Given the description of an element on the screen output the (x, y) to click on. 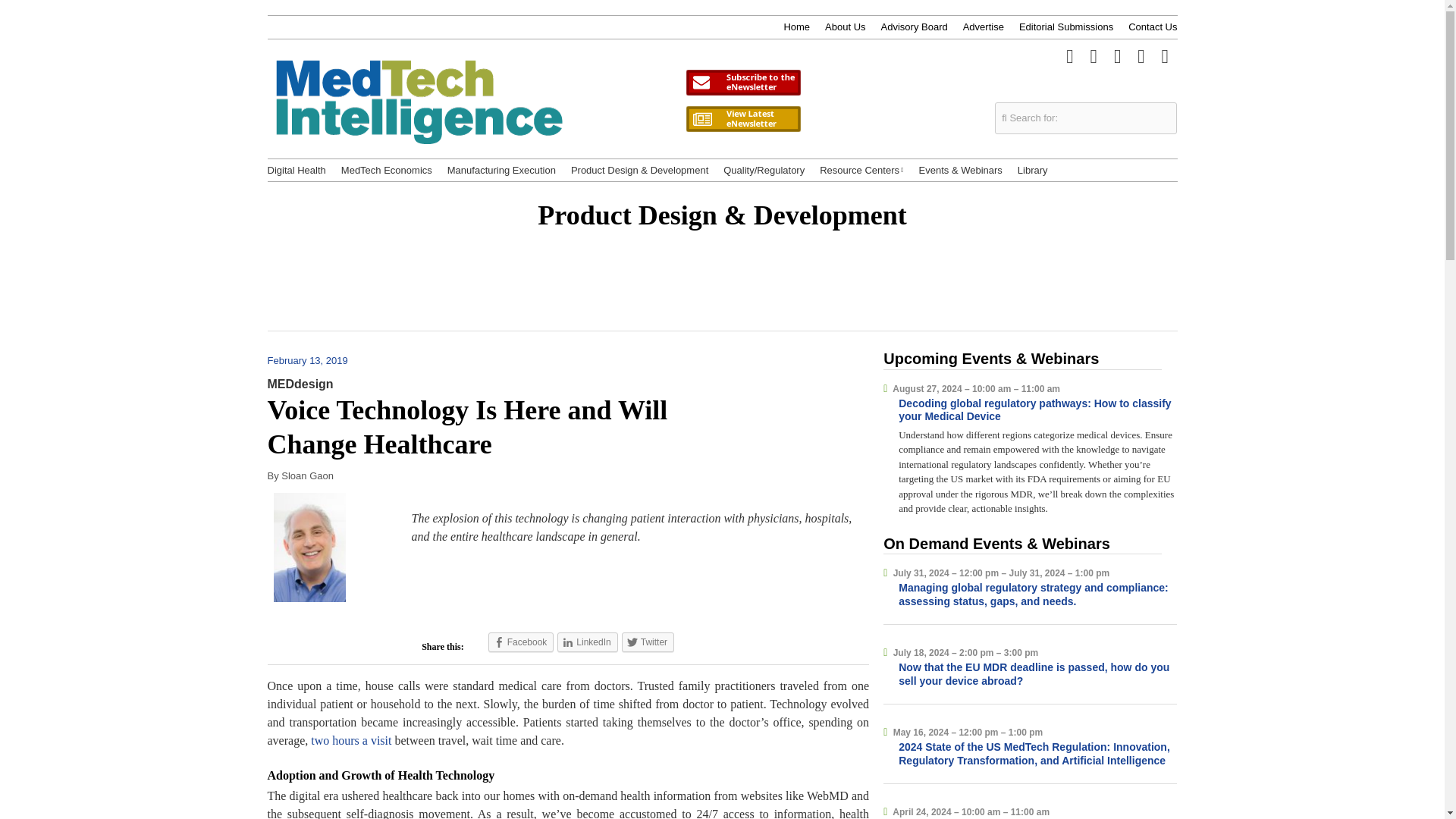
MedTech Economics (386, 169)
Advertise (983, 27)
MEDdesign (299, 383)
Resource Centers (860, 169)
Advisory Board (913, 27)
View The Latest Newsletter (742, 119)
Manufacturing Execution (501, 169)
Facebook (520, 641)
February 13, 2019 (314, 360)
Follow me on Twitter (1069, 55)
